Given the description of an element on the screen output the (x, y) to click on. 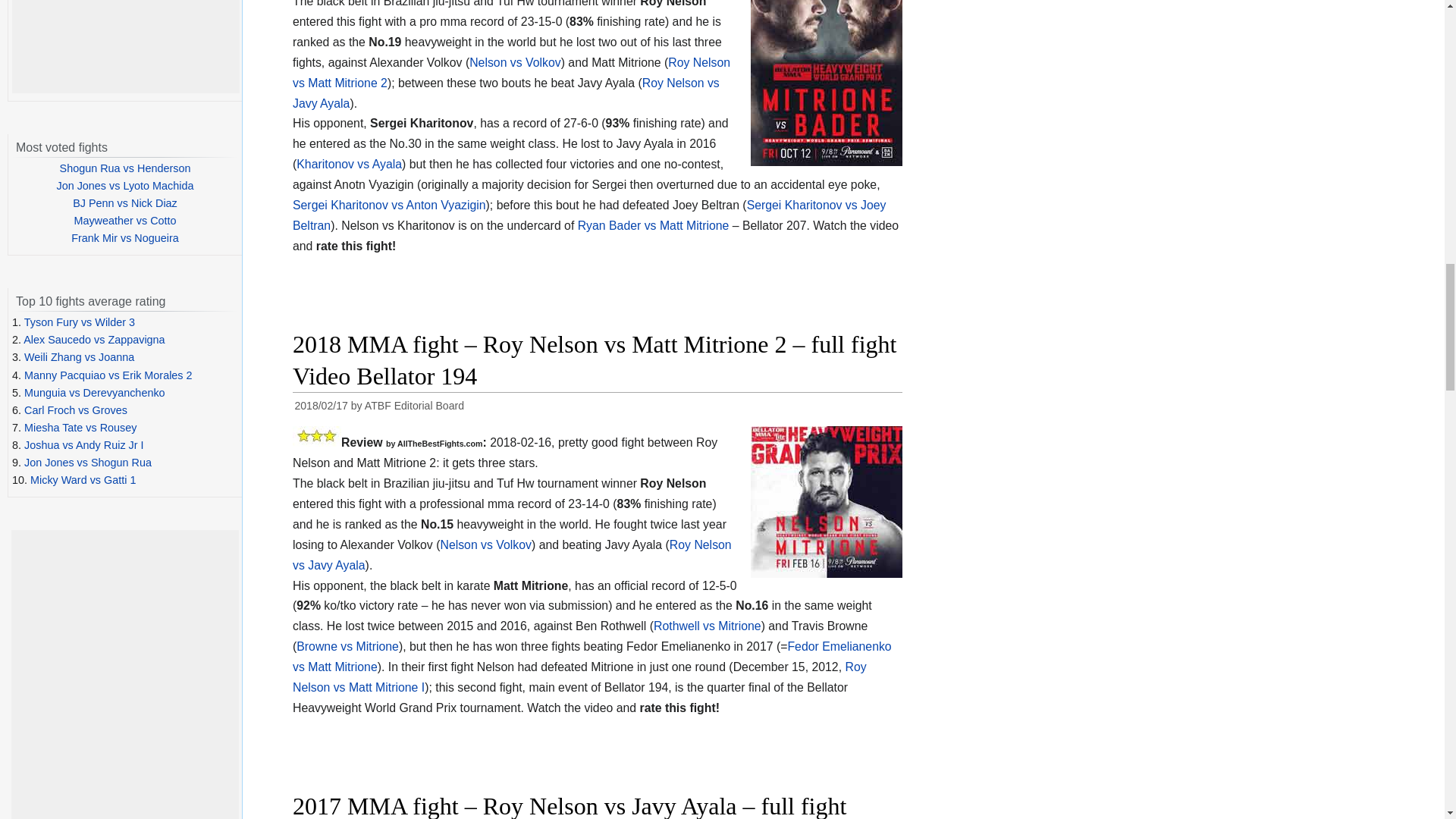
Nelson vs Volkov (514, 62)
Kharitonov vs Ayala (349, 164)
Roy Nelson vs Matt Mitrione 2 (511, 72)
Roy Nelson vs Javy Ayala (505, 92)
